Given the description of an element on the screen output the (x, y) to click on. 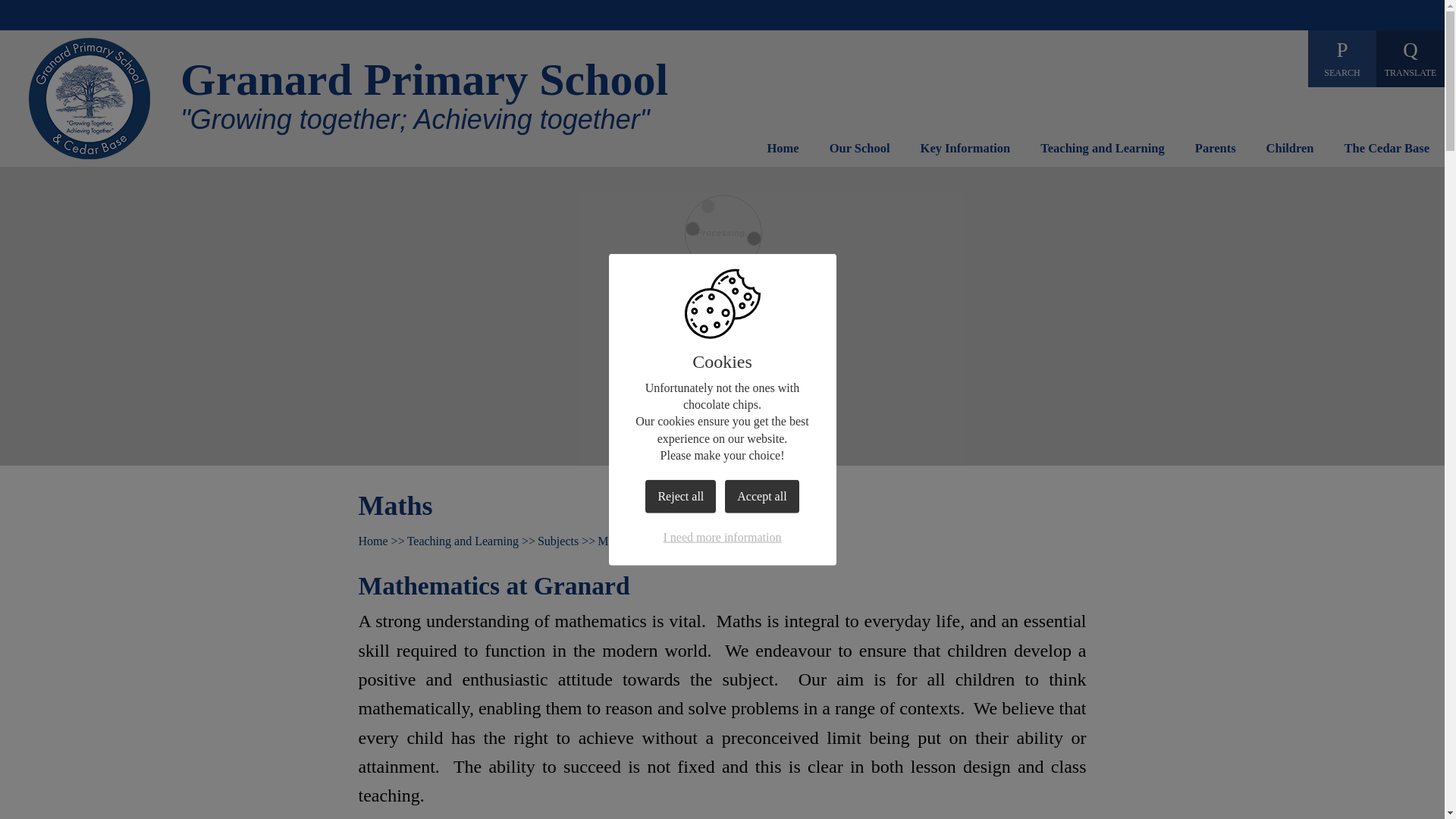
Home (782, 152)
Key Information (965, 152)
Our School (859, 152)
Home Page (89, 97)
